Given the description of an element on the screen output the (x, y) to click on. 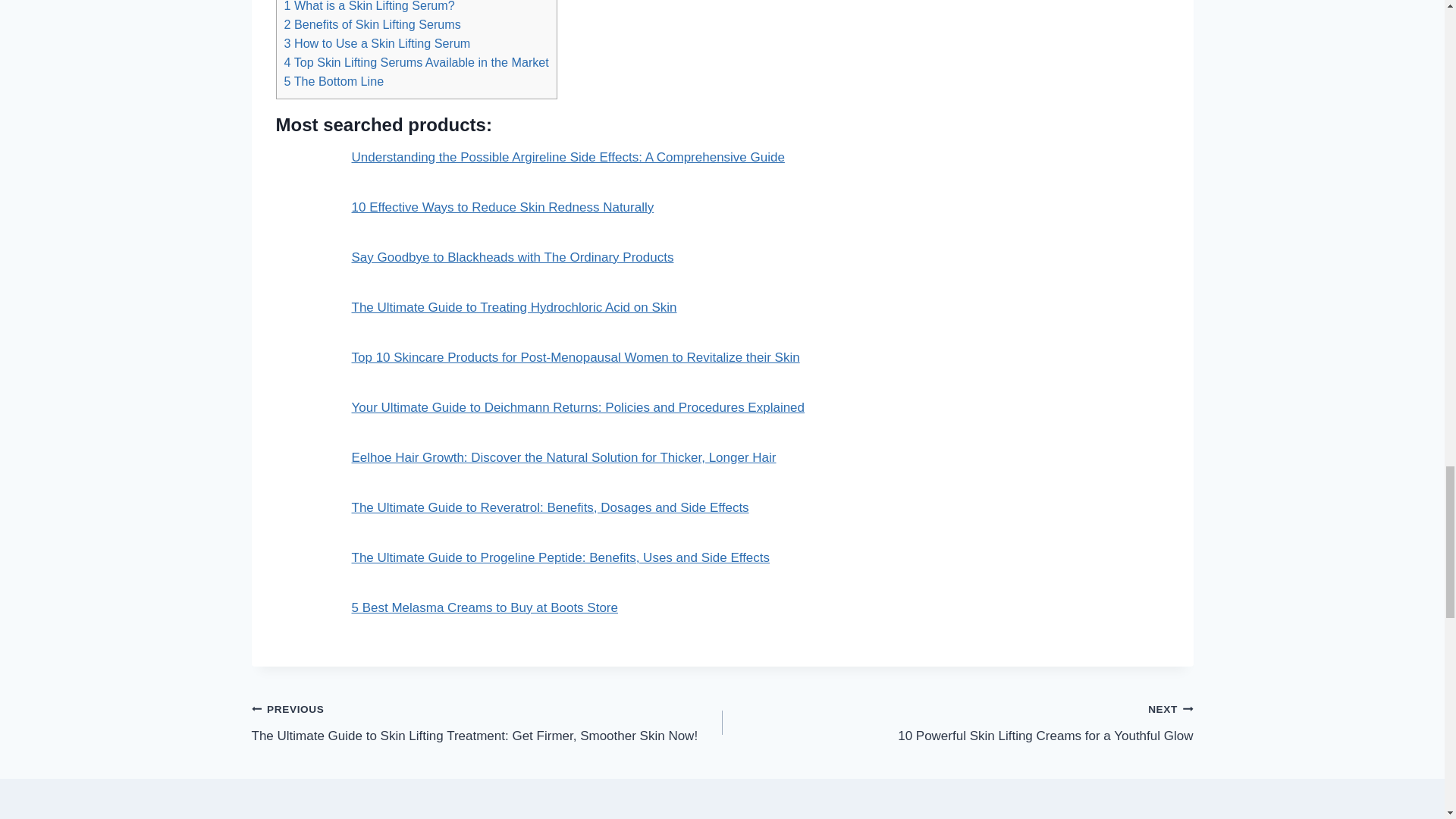
Say Goodbye to Blackheads with The Ordinary Products (513, 257)
5 Best Melasma Creams to Buy at Boots Store (484, 607)
The Ultimate Guide to Treating Hydrochloric Acid on Skin (514, 307)
5 The Bottom Line (333, 80)
1 What is a Skin Lifting Serum? (368, 6)
4 Top Skin Lifting Serums Available in the Market (415, 61)
2 Benefits of Skin Lifting Serums (371, 24)
10 Effective Ways to Reduce Skin Redness Naturally (502, 206)
